Given the description of an element on the screen output the (x, y) to click on. 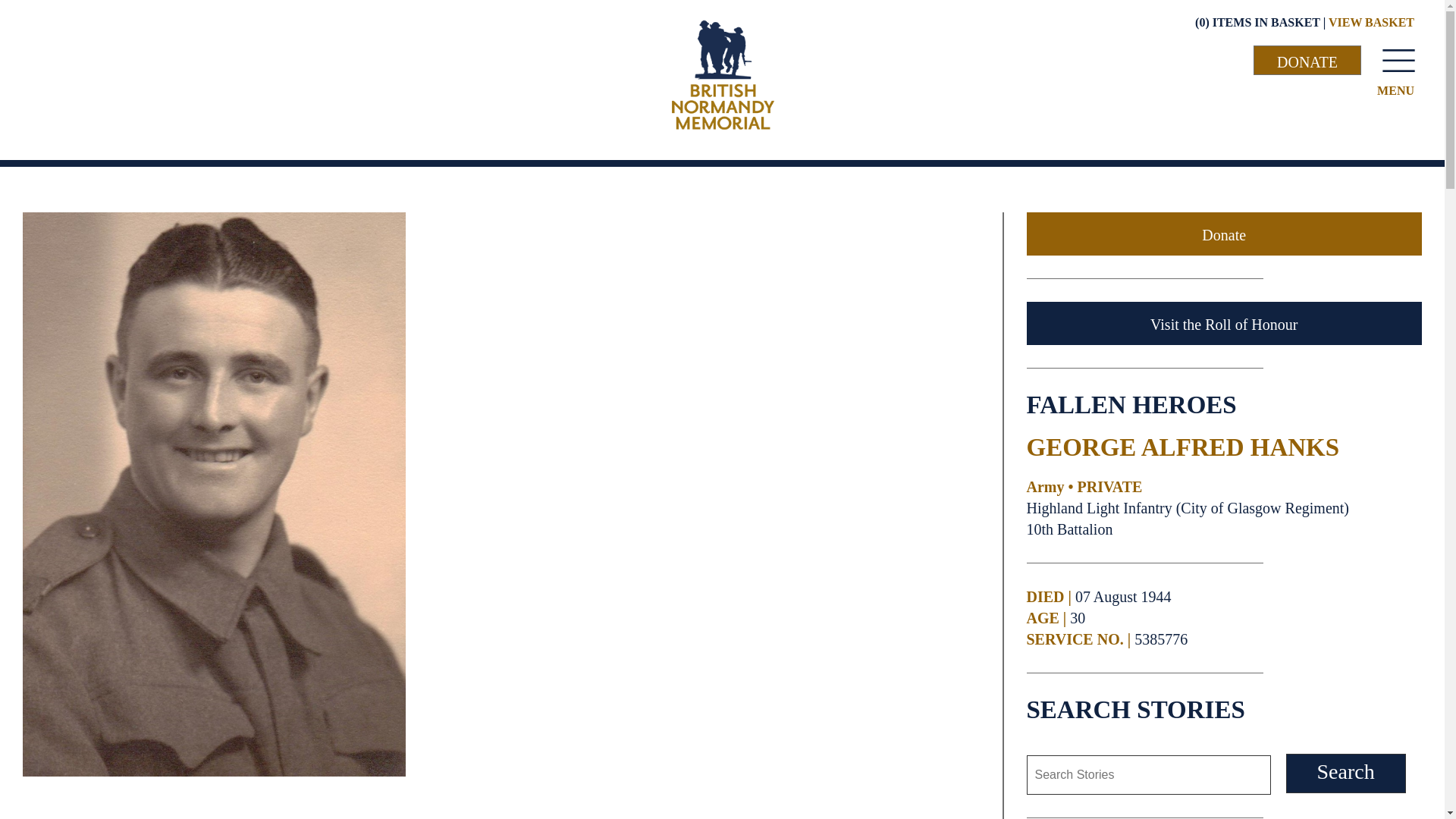
DONATE (1307, 60)
VIEW BASKET (1370, 21)
Search (1345, 773)
